Given the description of an element on the screen output the (x, y) to click on. 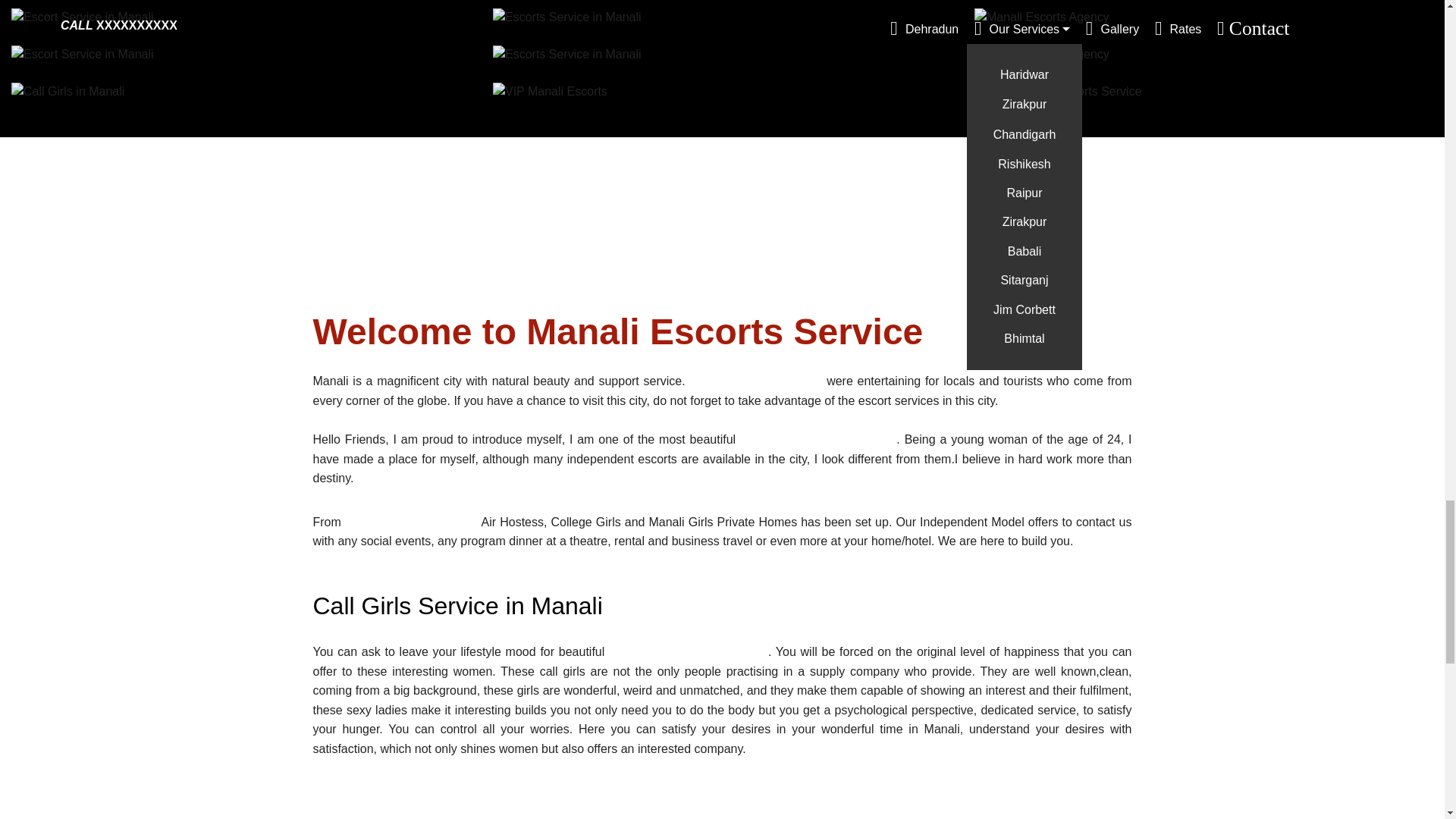
Manali Escort services (755, 380)
Escort Service in Manali (82, 54)
Escorts Service in Manali (567, 17)
Call Girls Service in Manali (688, 651)
Independent Manali Escort (817, 439)
Escort Service in Manali (82, 17)
Manali Escorts Agency (1041, 17)
Manali Escorts Service (412, 521)
